Given the description of an element on the screen output the (x, y) to click on. 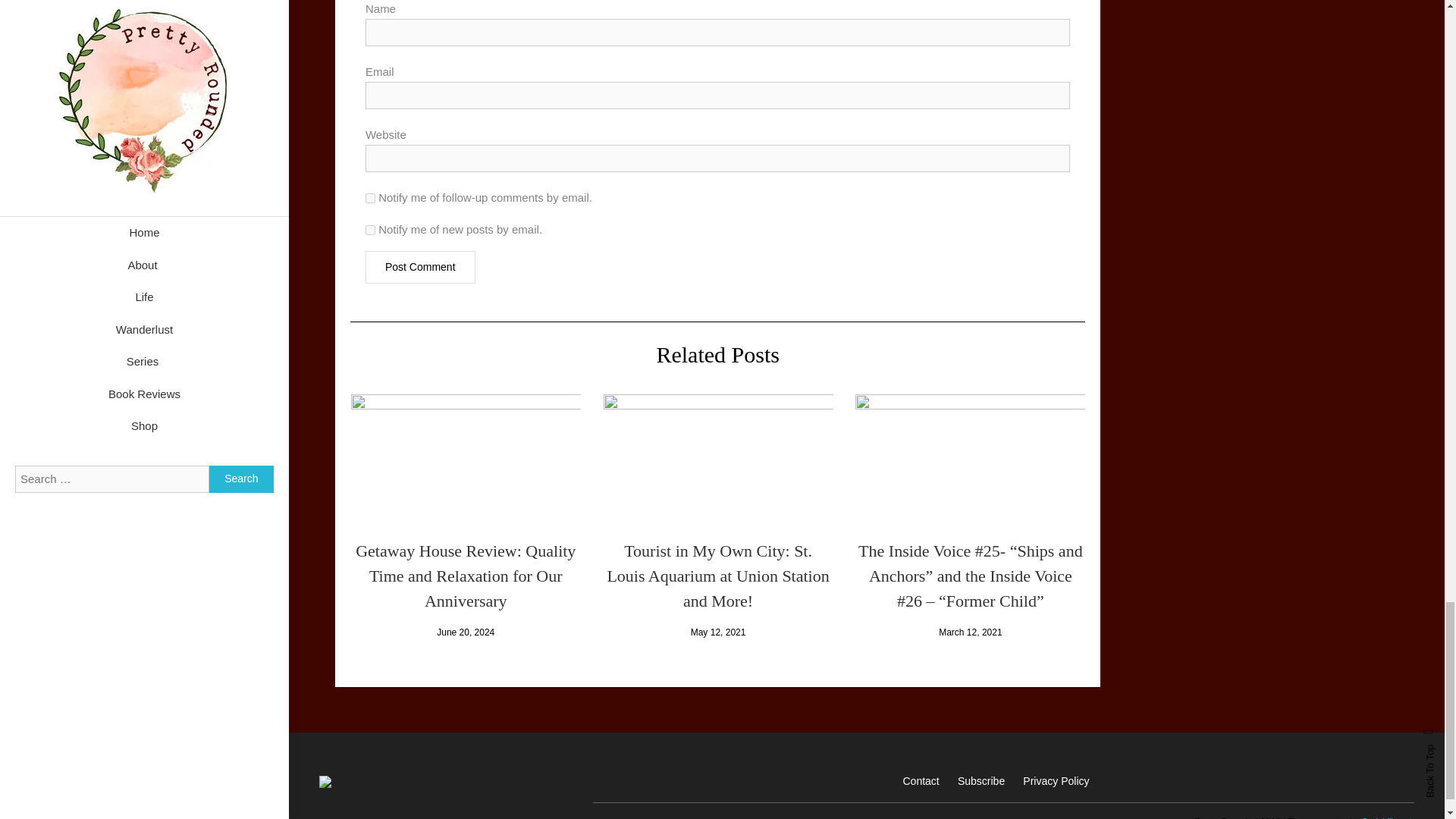
subscribe (370, 230)
Post Comment (420, 266)
subscribe (370, 198)
